Given the description of an element on the screen output the (x, y) to click on. 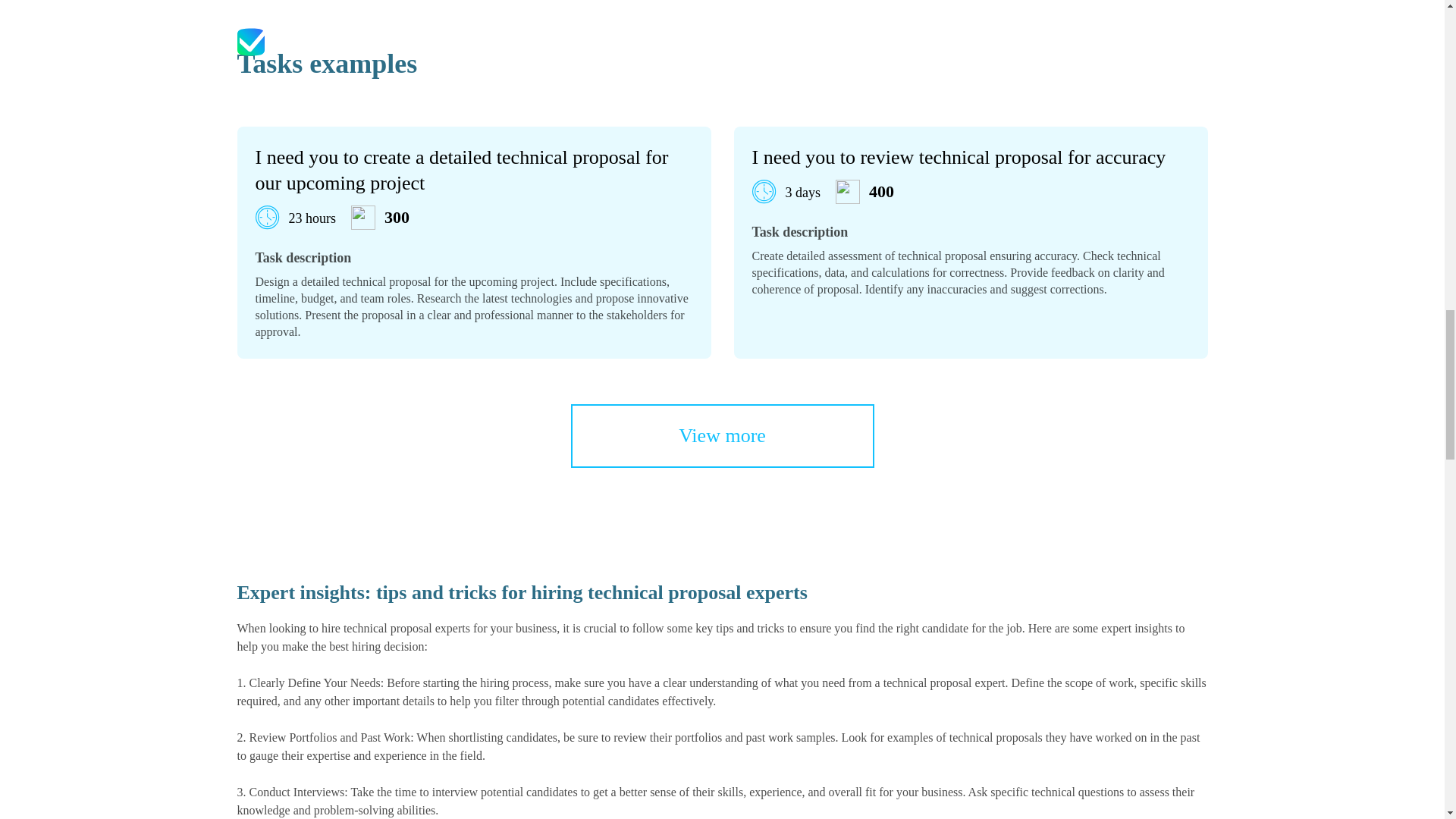
View more (721, 435)
